Given the description of an element on the screen output the (x, y) to click on. 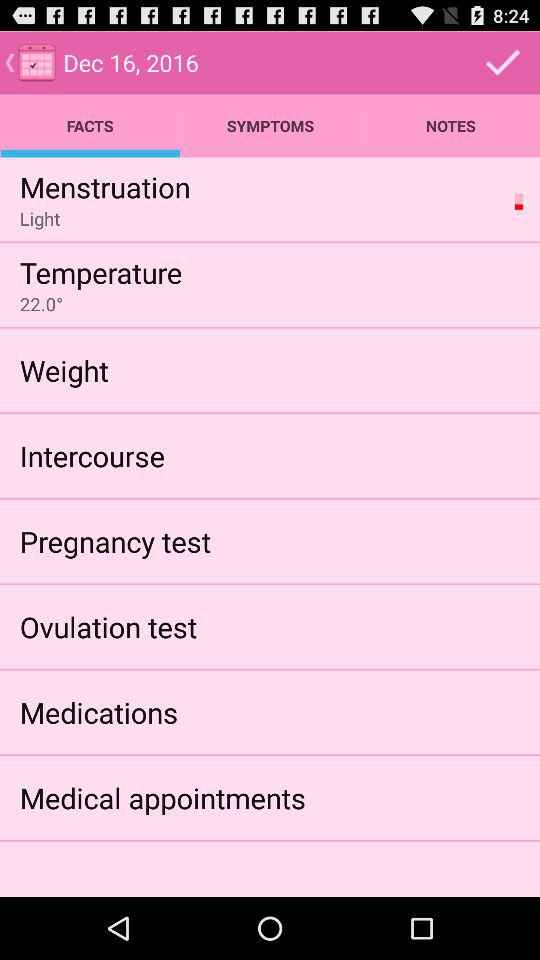
jump to temperature (100, 272)
